Given the description of an element on the screen output the (x, y) to click on. 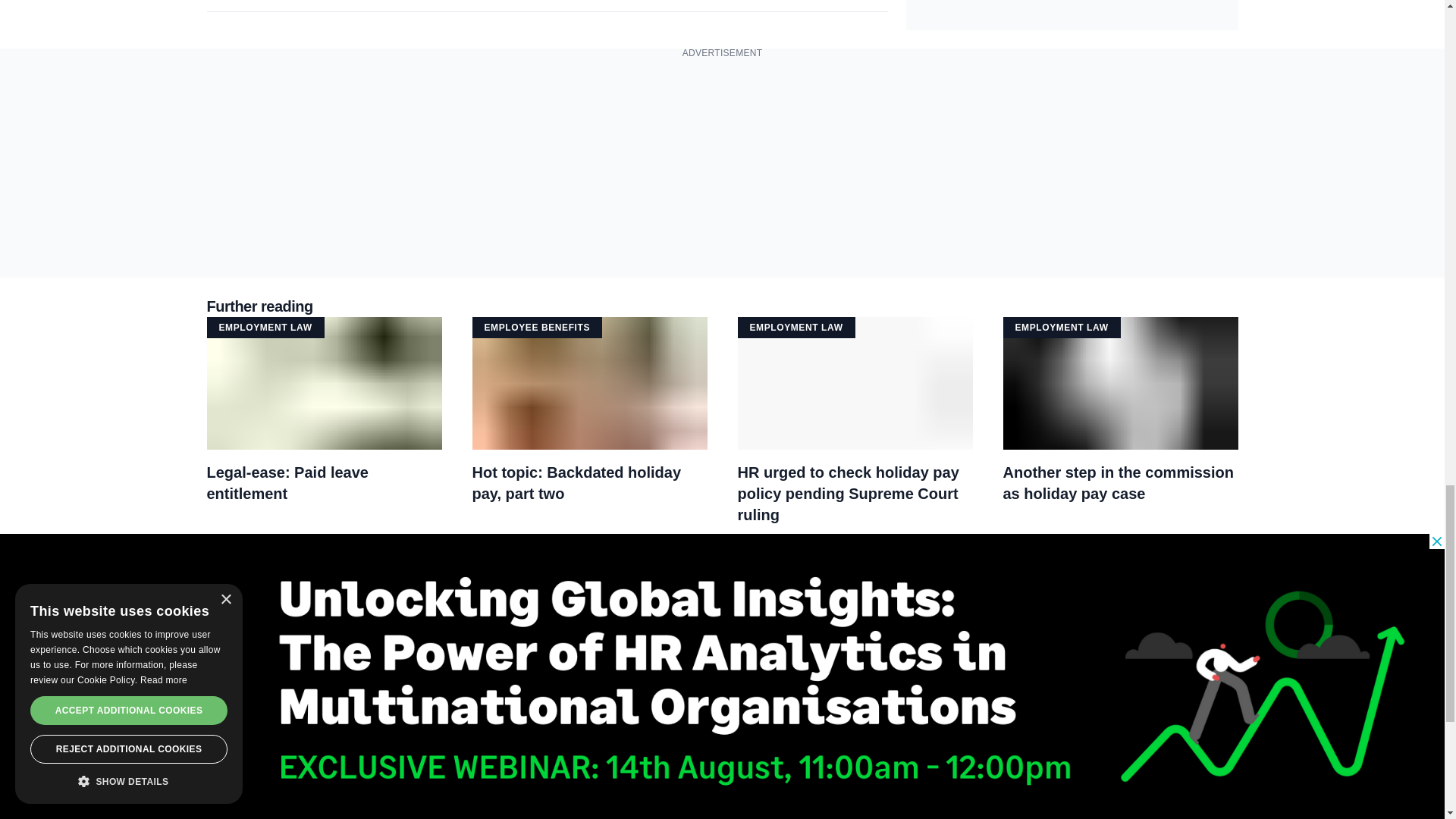
Legal-ease: Paid leave entitlement (323, 482)
Features (492, 558)
Another step in the commission as holiday pay case (1120, 482)
Hot topic: Backdated holiday pay, part two (588, 482)
News (749, 558)
Features (226, 558)
